Given the description of an element on the screen output the (x, y) to click on. 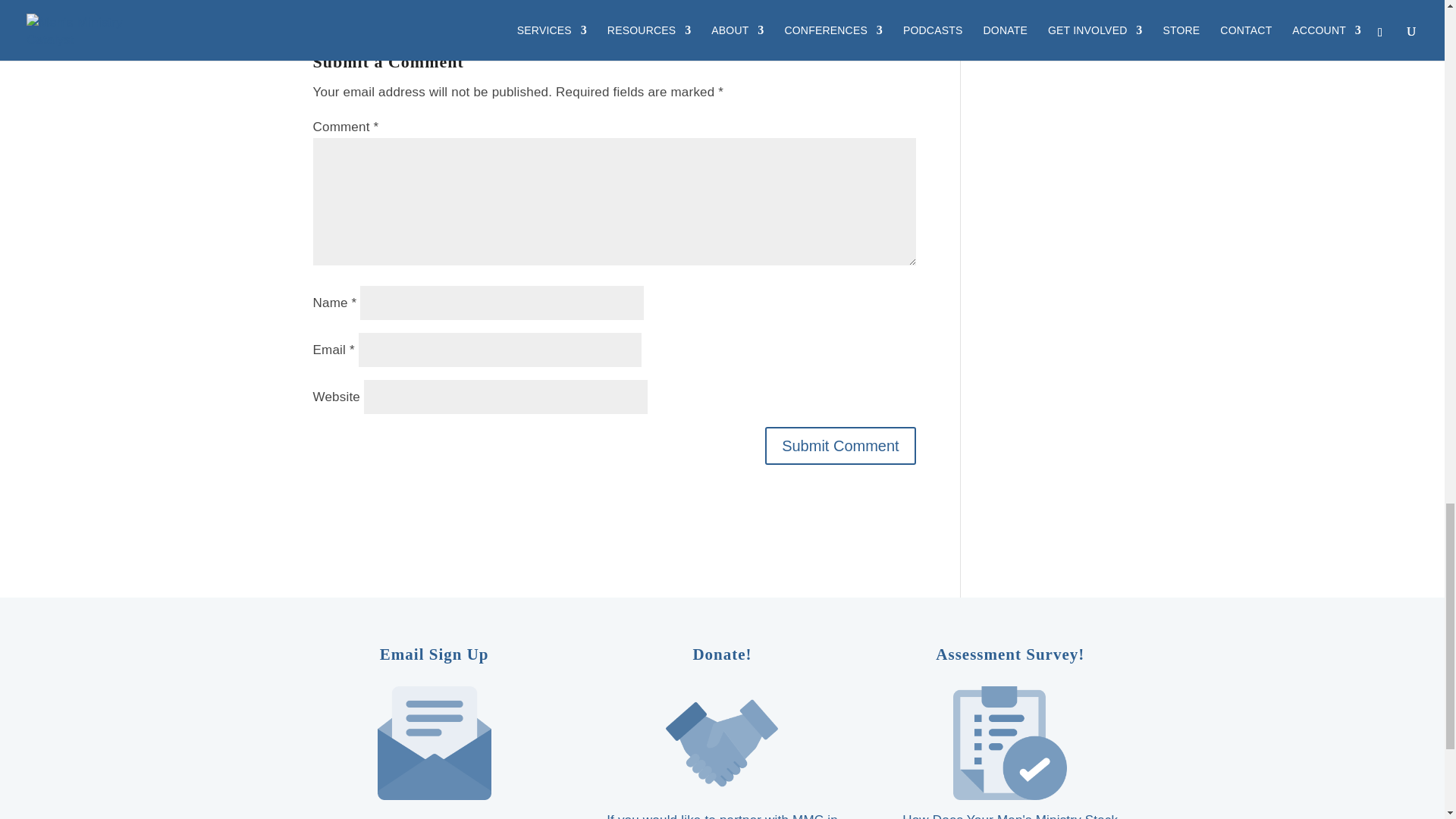
Submit Comment (840, 445)
